Given the description of an element on the screen output the (x, y) to click on. 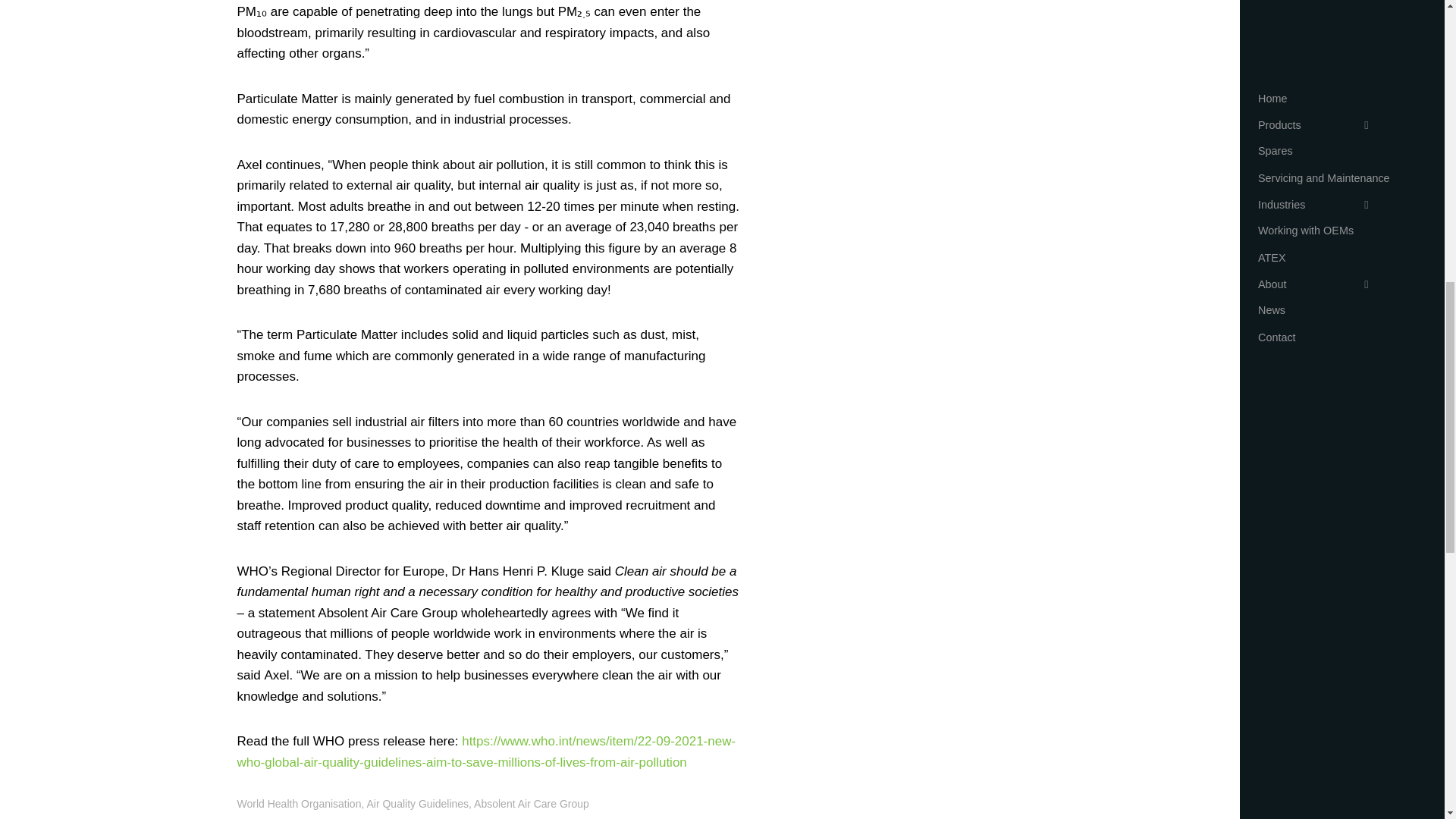
Air Quality Guidelines (417, 803)
World Health Organisation (298, 803)
Absolent Air Care Group (531, 803)
